Given the description of an element on the screen output the (x, y) to click on. 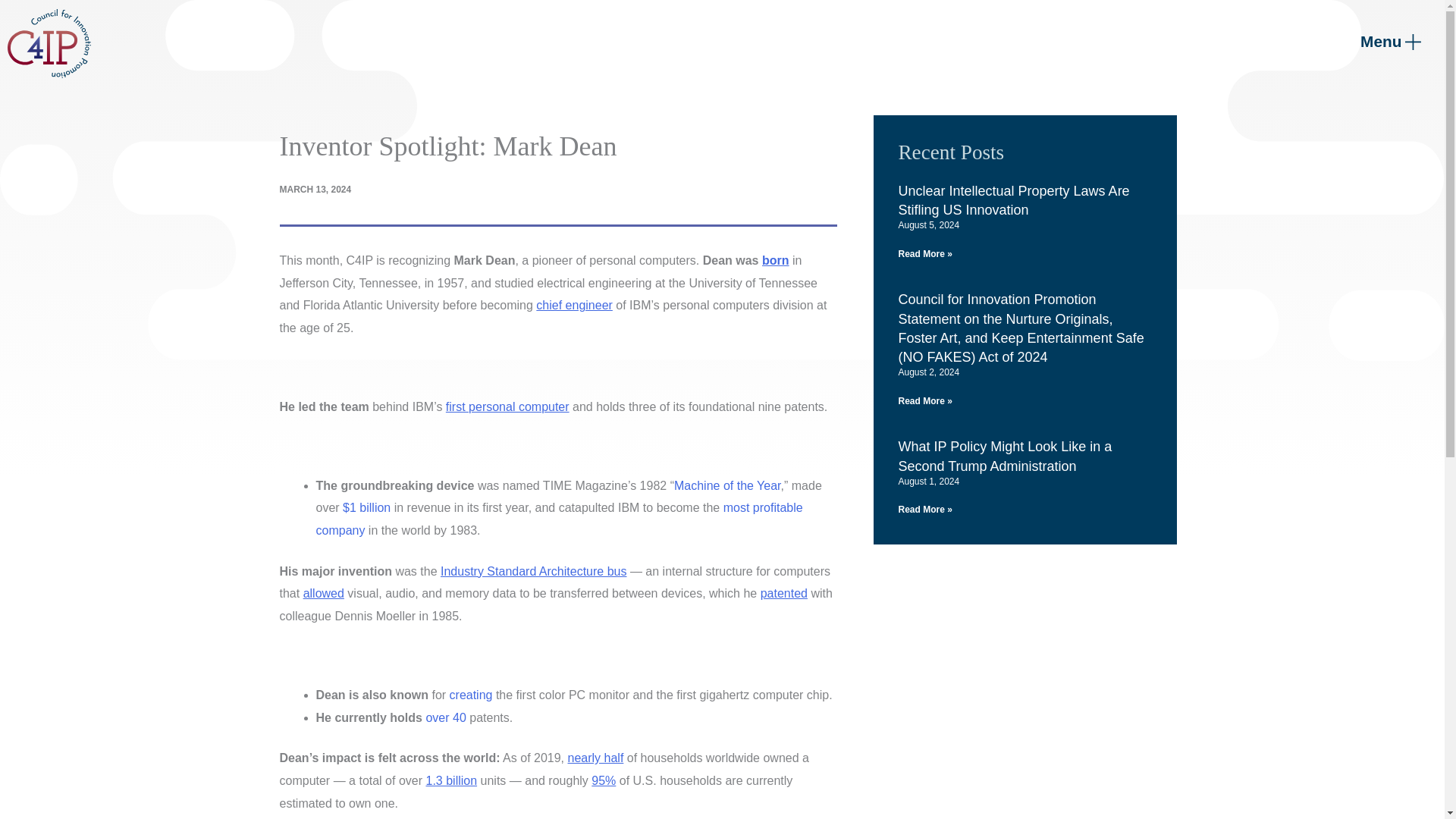
chief engineer (573, 305)
Machine of the Year (727, 485)
first personal computer (507, 406)
born (775, 259)
